Given the description of an element on the screen output the (x, y) to click on. 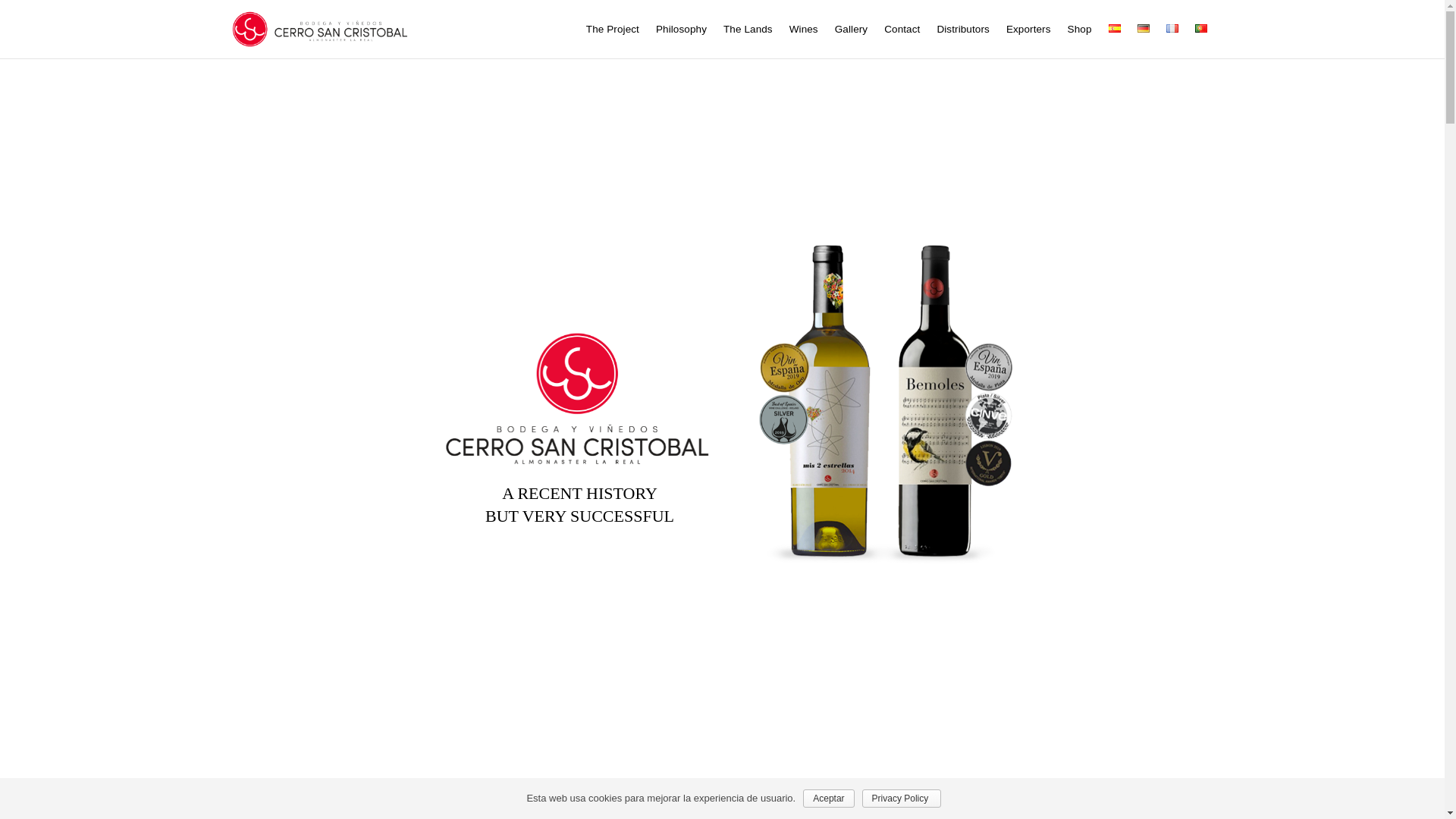
Contact (902, 29)
Privacy Policy  (900, 798)
Philosophy (680, 29)
Wines (803, 29)
Distributors (962, 29)
Aceptar (828, 798)
Gallery (851, 29)
The Project (612, 29)
The Lands (747, 29)
Exporters (1028, 29)
Shop (1079, 29)
